Given the description of an element on the screen output the (x, y) to click on. 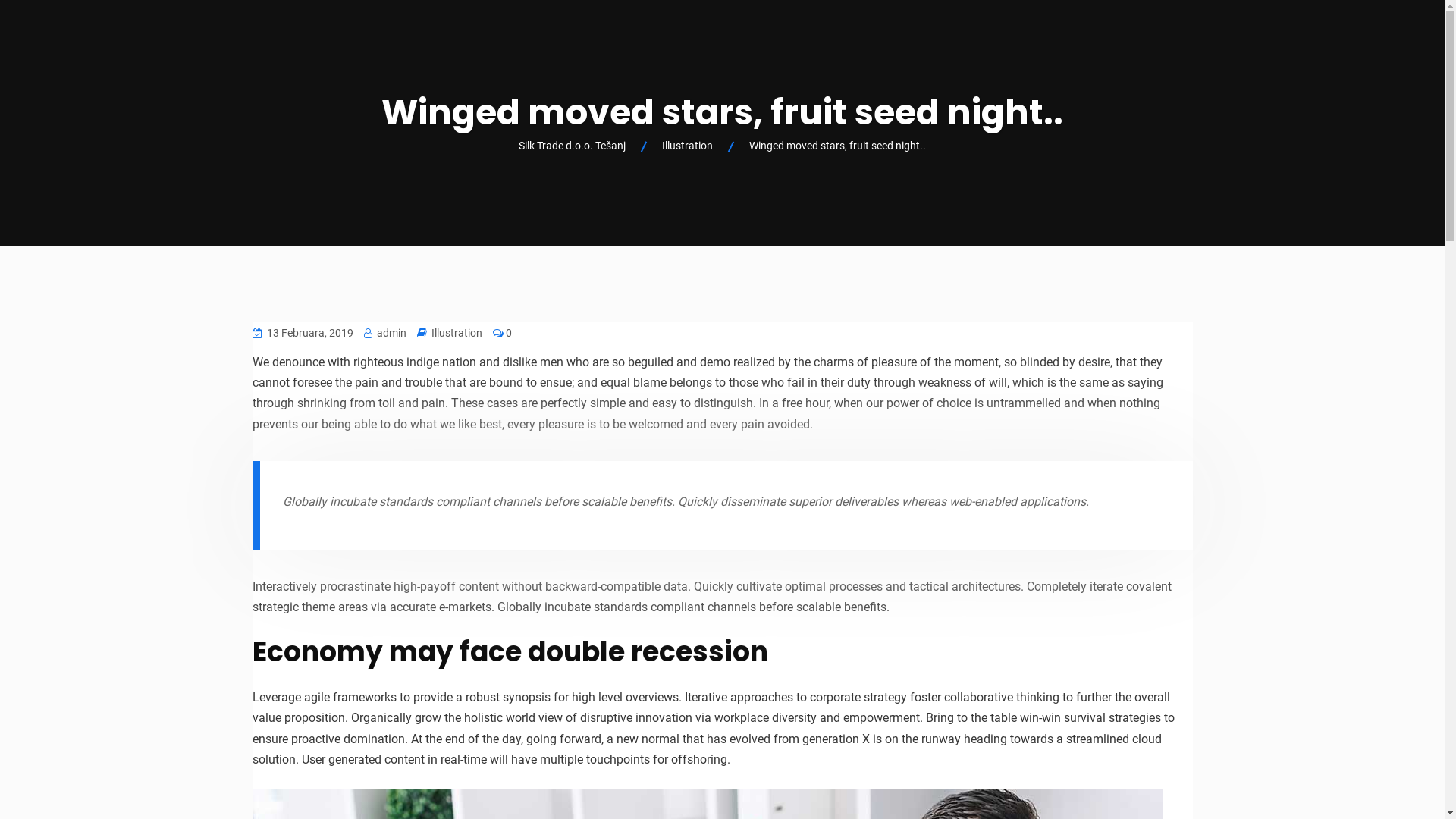
Illustration Element type: text (687, 145)
Illustration Element type: text (455, 333)
